Given the description of an element on the screen output the (x, y) to click on. 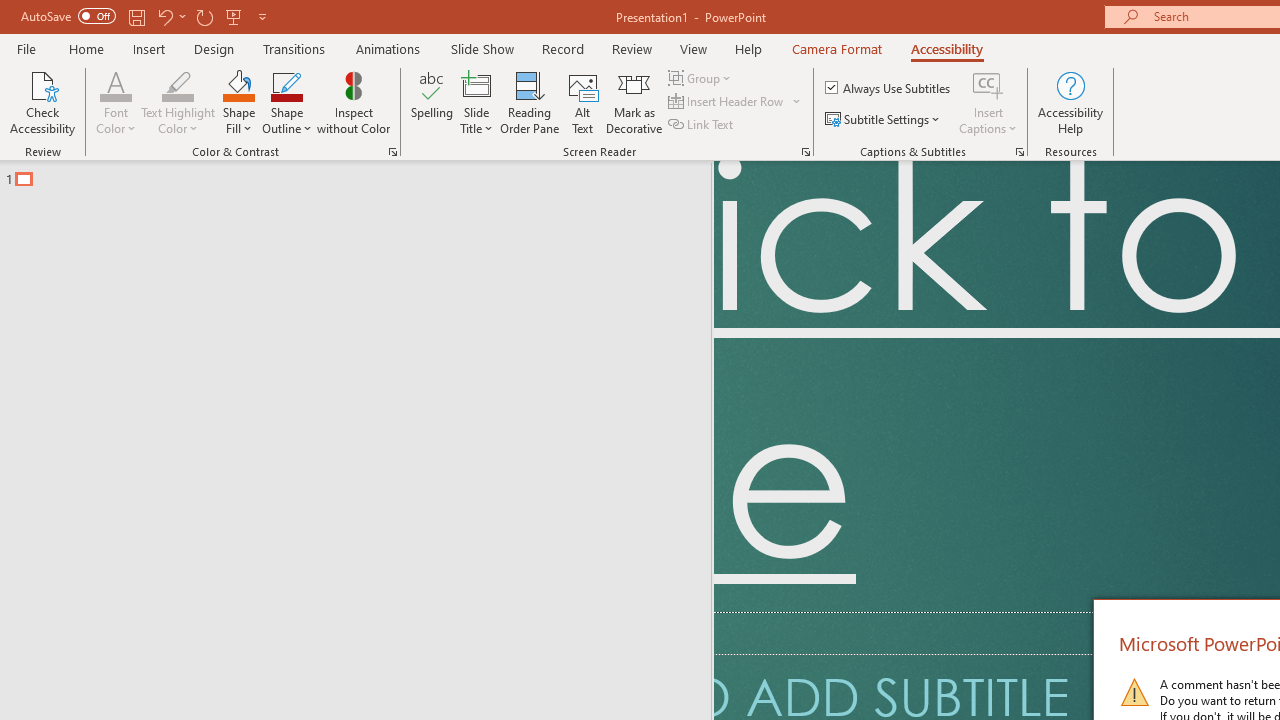
Screen Reader (805, 151)
Link Text (702, 124)
